Given the description of an element on the screen output the (x, y) to click on. 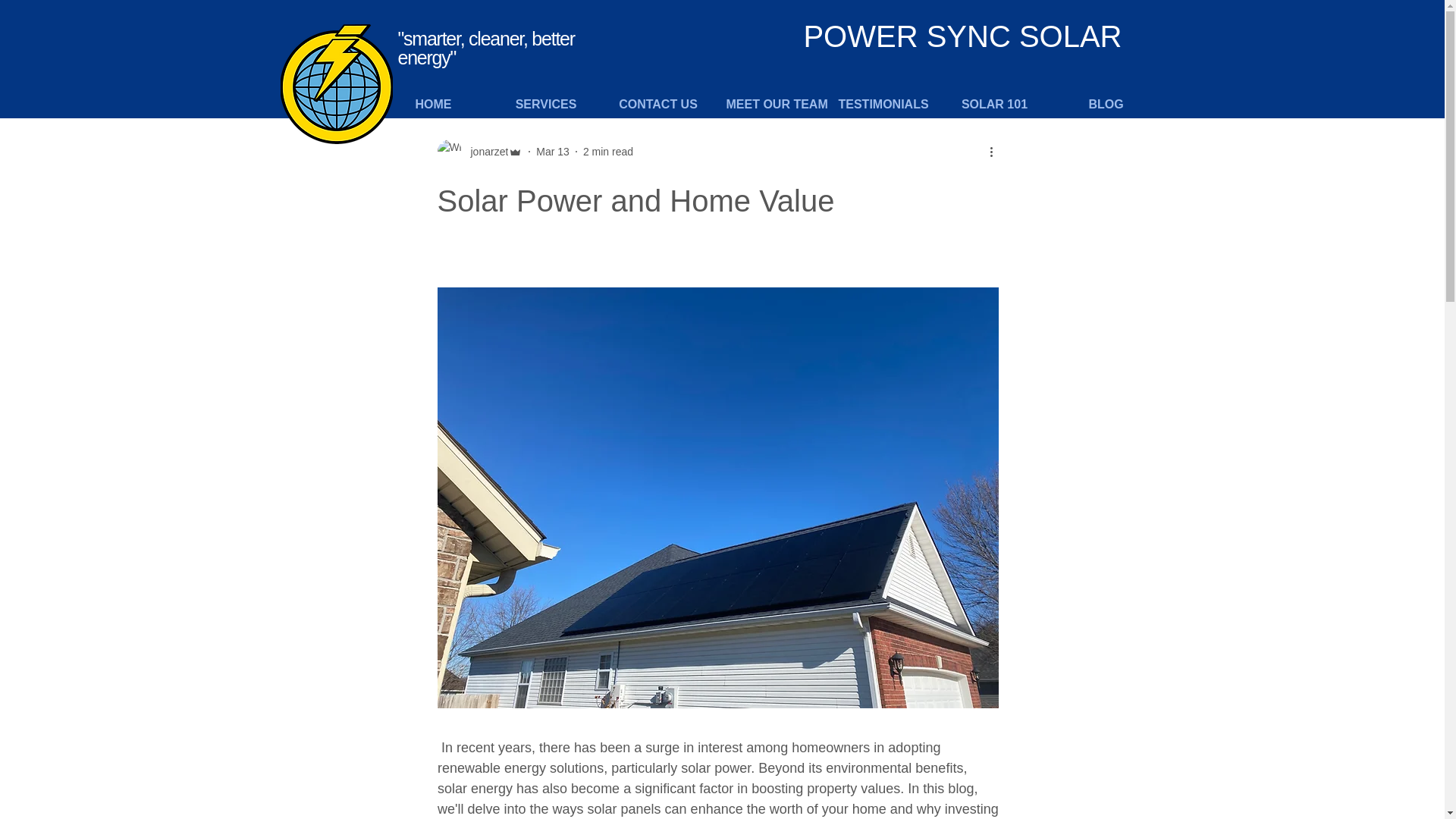
HOME (433, 104)
Mar 13 (552, 151)
SOLAR 101 (994, 104)
TESTIMONIALS (883, 104)
CONTACT US (658, 104)
2 min read (608, 151)
jonarzet (484, 151)
All Posts (382, 47)
MEET OUR TEAM (770, 104)
BLOG (1104, 104)
